Given the description of an element on the screen output the (x, y) to click on. 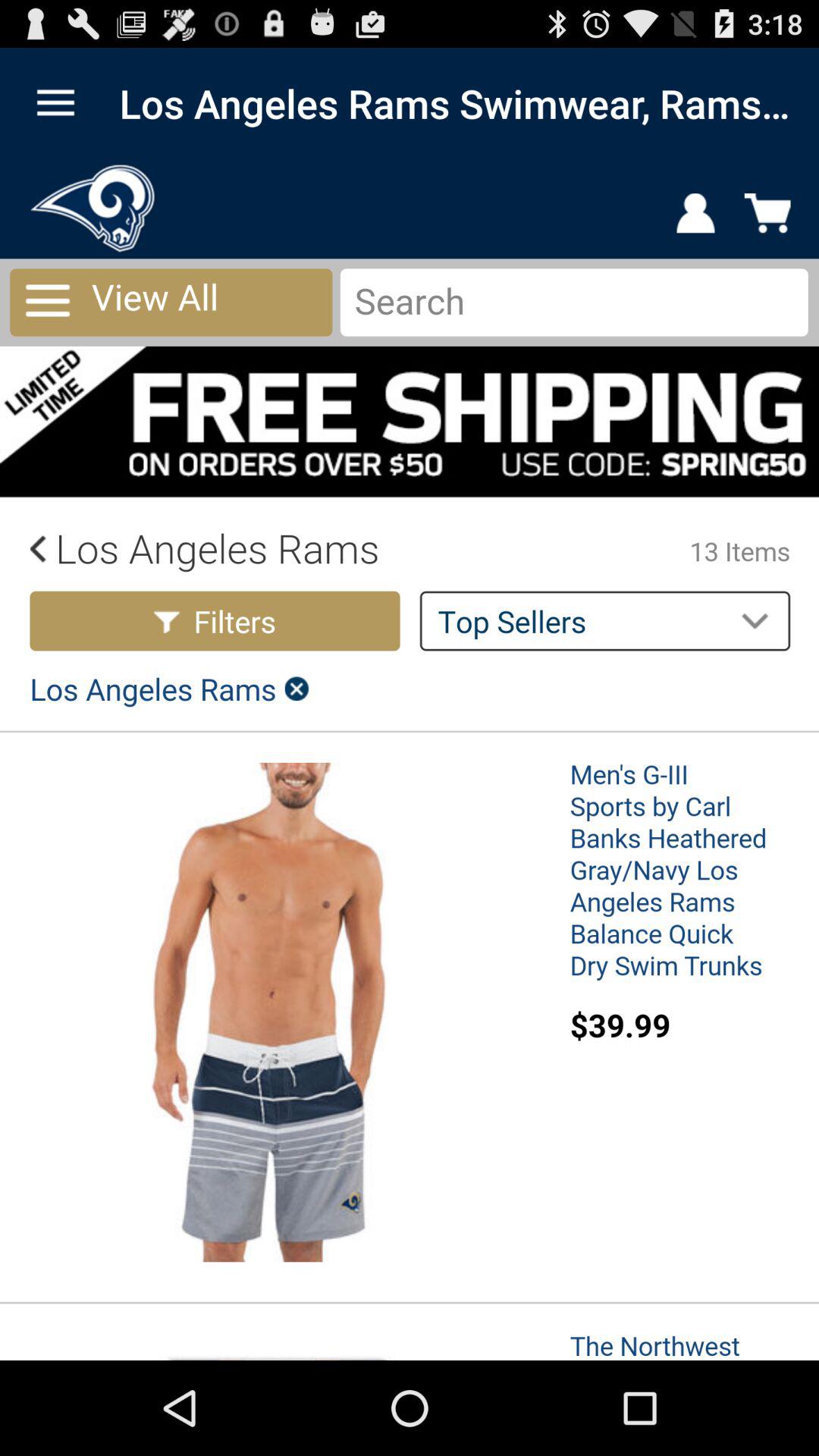
option button (55, 103)
